Given the description of an element on the screen output the (x, y) to click on. 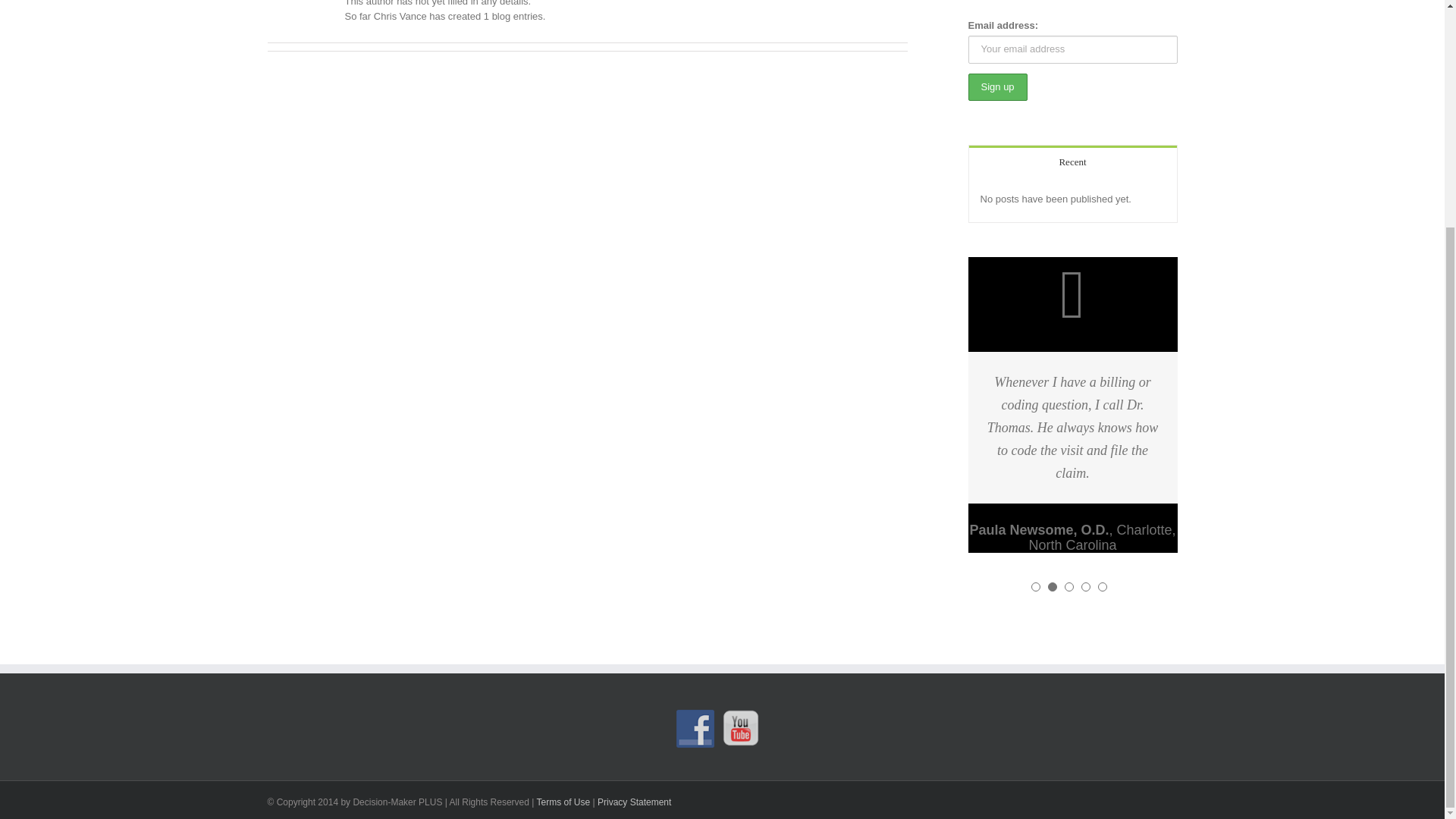
Follow Us on YouTube (741, 728)
Recent (1072, 160)
Follow Us on Facebook (695, 728)
Sign up (997, 87)
Sign up (997, 87)
